Given the description of an element on the screen output the (x, y) to click on. 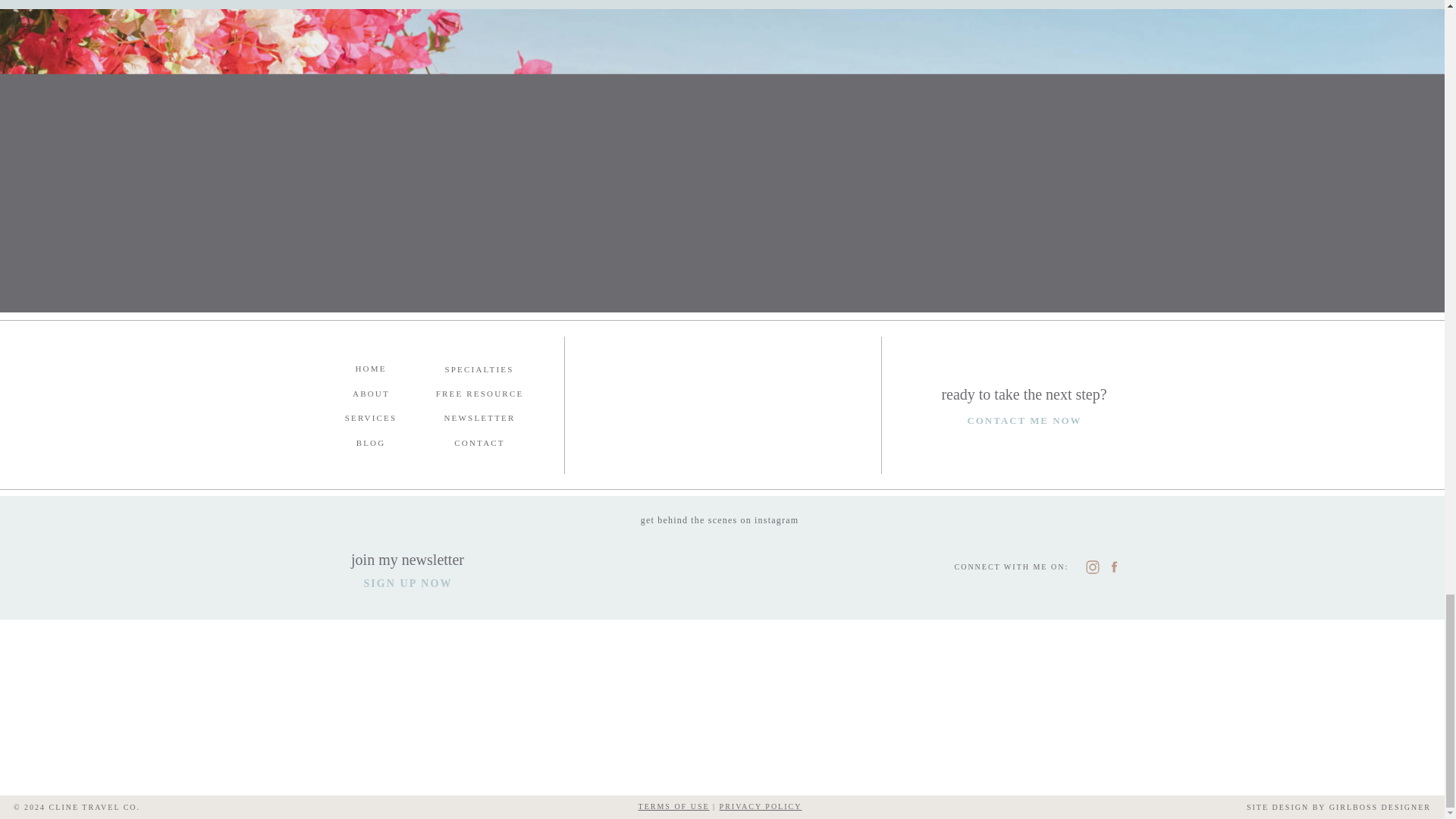
CONNECT WITH ME ON: (1015, 567)
ready to take the next step? (1023, 392)
TERMS OF USE (674, 806)
HOME (369, 368)
SITE DESIGN BY GIRLBOSS DESIGNER (1309, 807)
PRIVACY POLICY (760, 806)
ABOUT (370, 393)
SERVICES (370, 417)
CONTACT ME NOW (1023, 419)
get behind the scenes on instagram (718, 519)
